Given the description of an element on the screen output the (x, y) to click on. 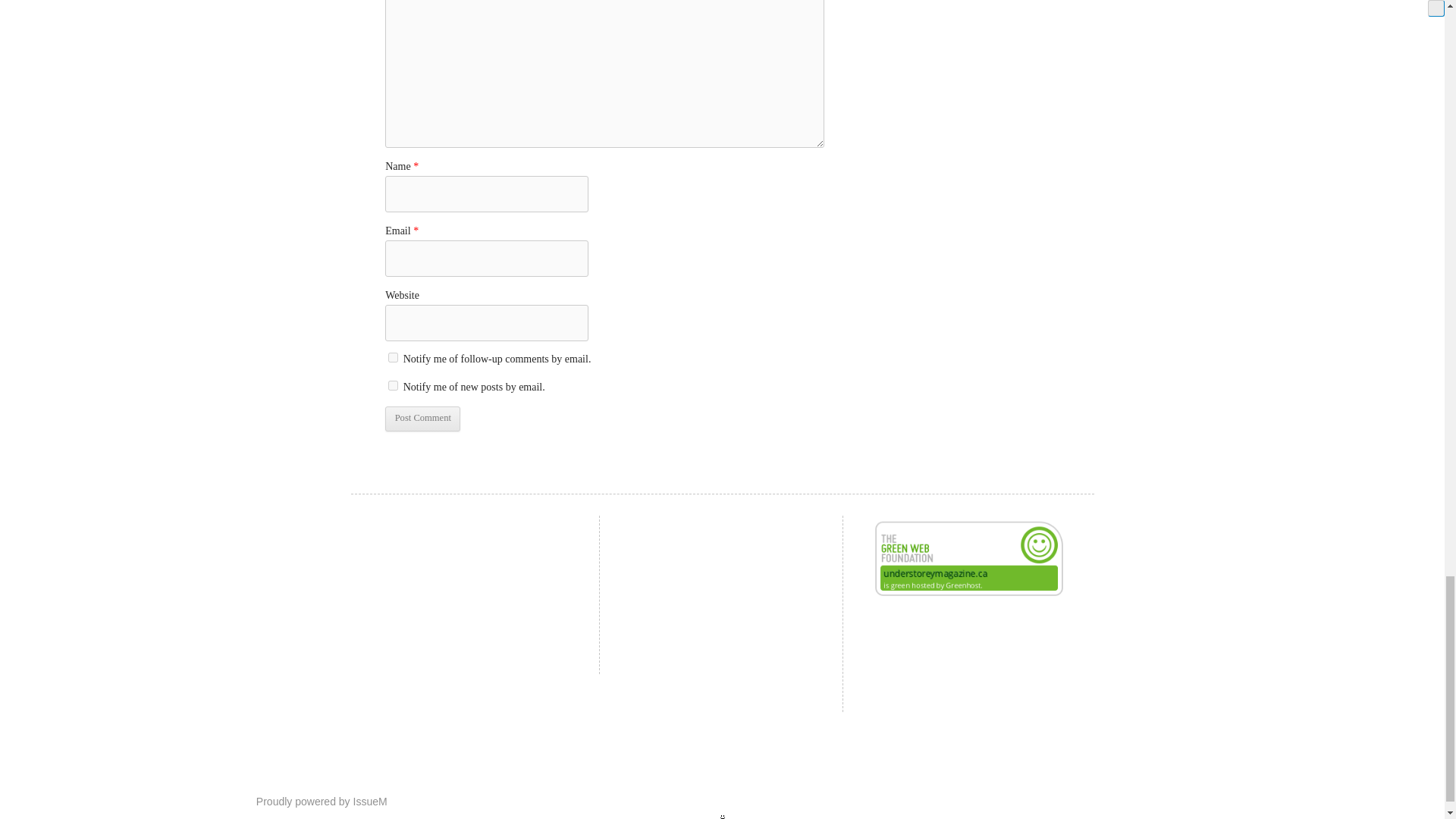
Post Comment (422, 419)
subscribe (392, 385)
Post Comment (422, 419)
subscribe (392, 357)
